Given the description of an element on the screen output the (x, y) to click on. 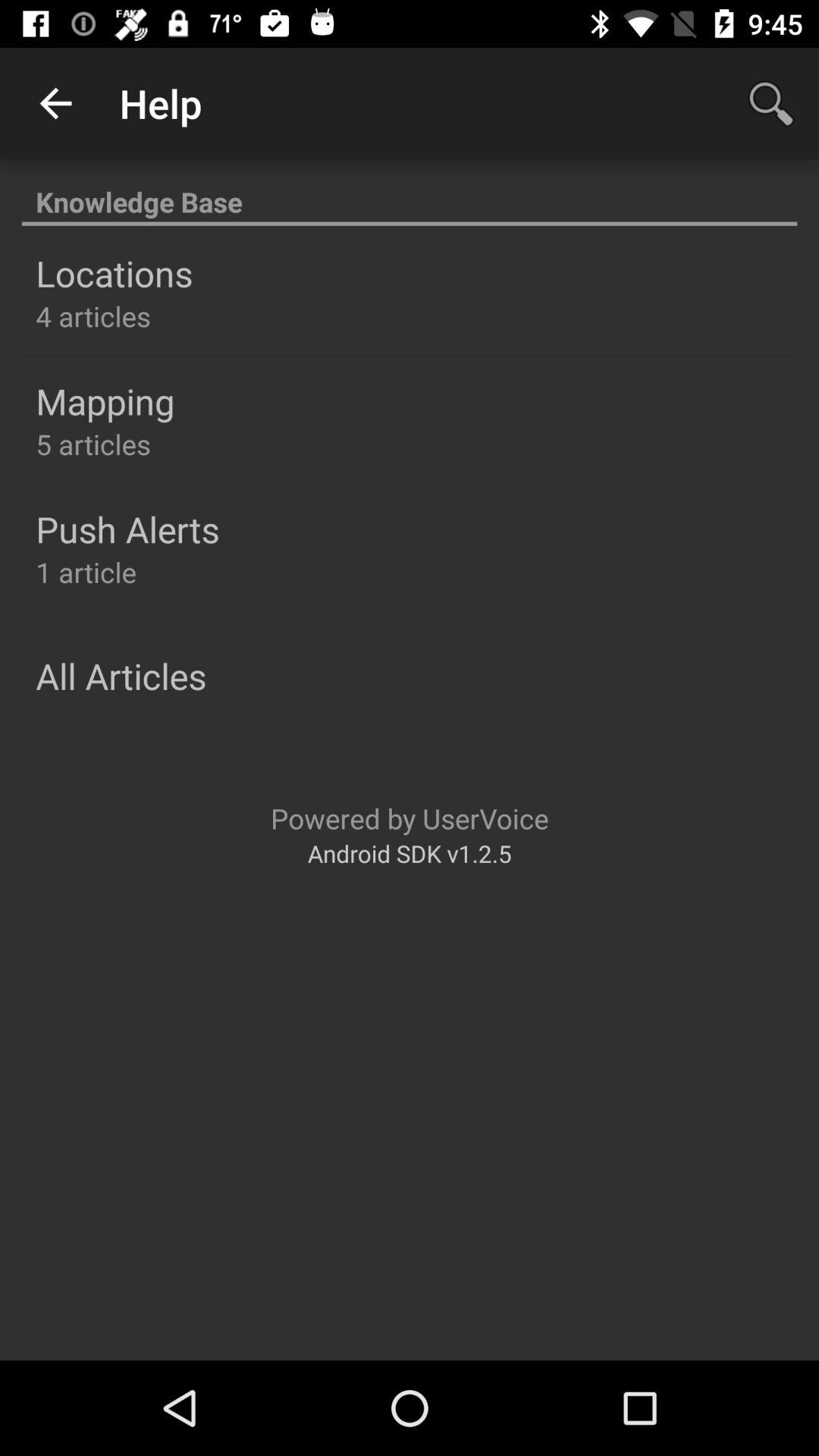
turn on the app to the left of the help icon (55, 103)
